Given the description of an element on the screen output the (x, y) to click on. 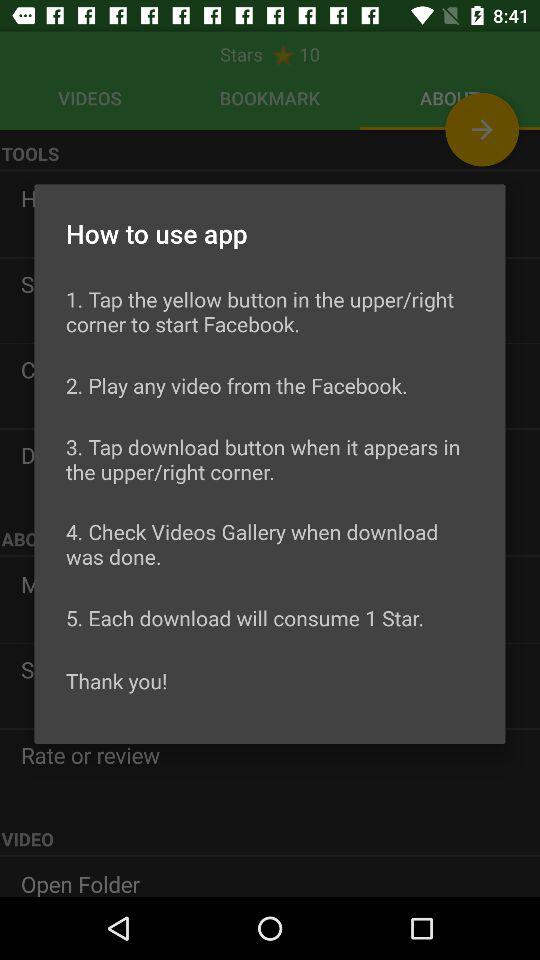
press item below 5 each download (116, 680)
